Given the description of an element on the screen output the (x, y) to click on. 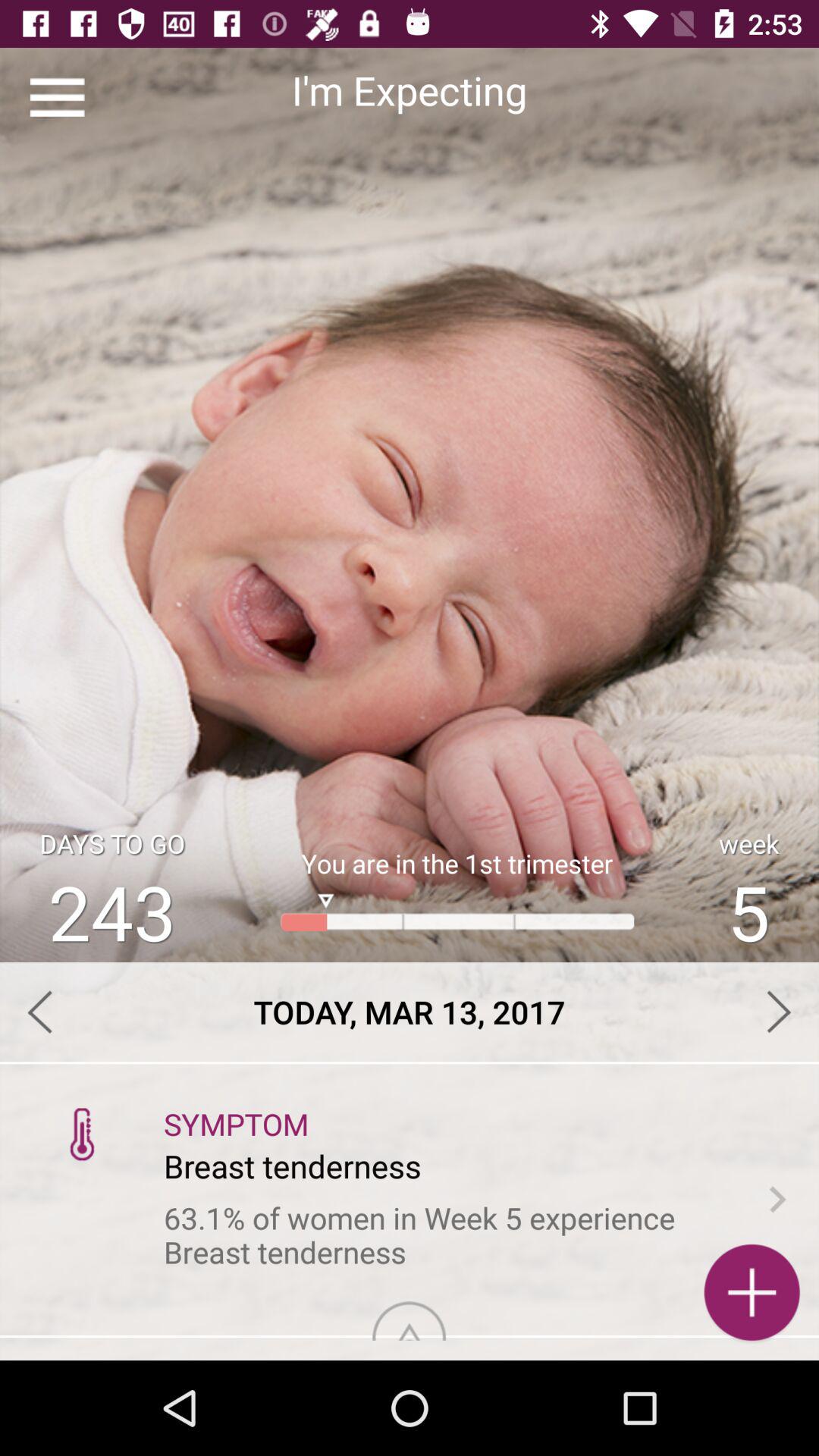
turn on the 63 1 of (449, 1235)
